Given the description of an element on the screen output the (x, y) to click on. 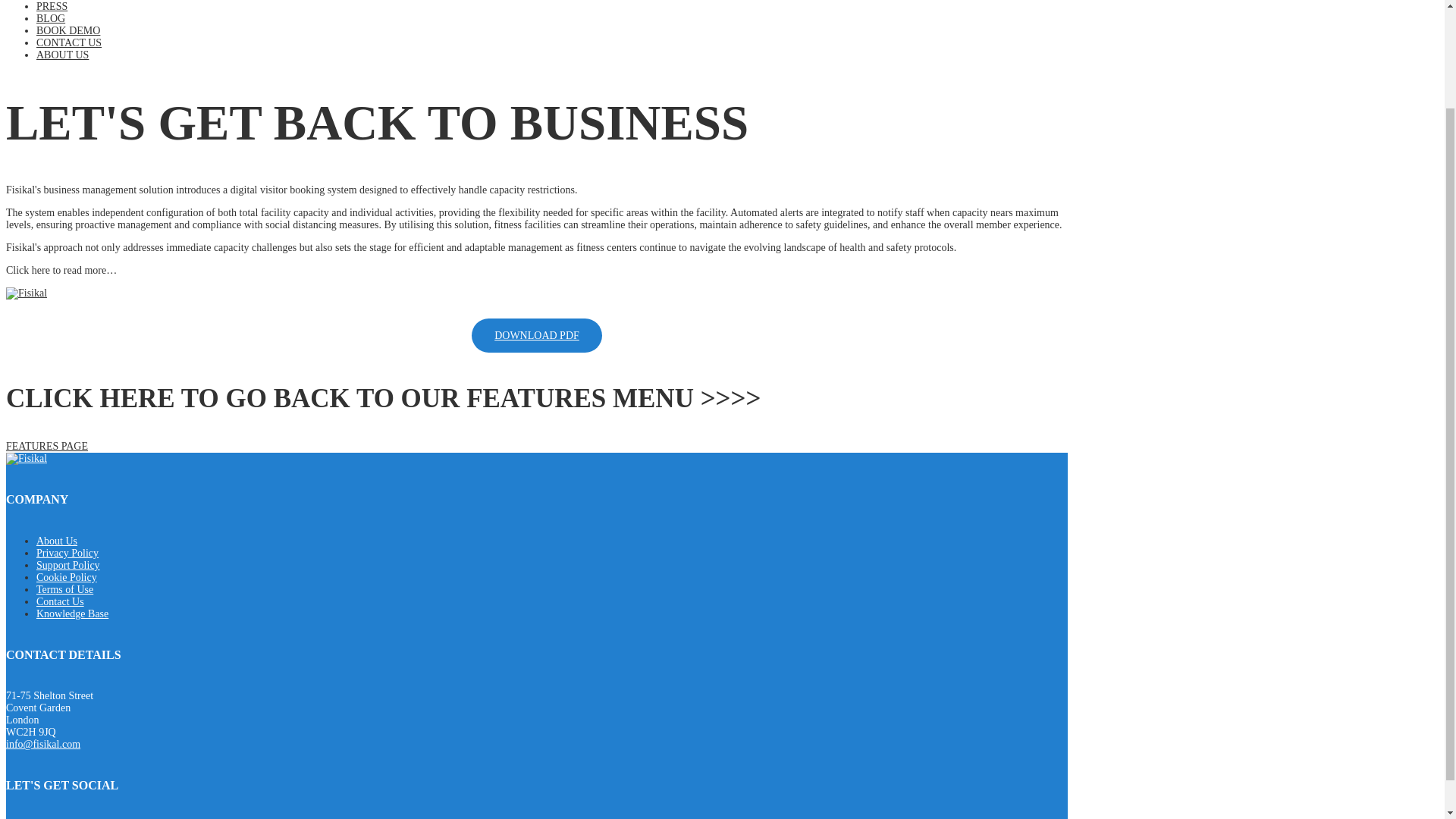
Fisikal (25, 458)
Contact Us (60, 601)
PRESS (51, 6)
Terms of Use (64, 589)
Privacy Policy (67, 552)
DOWNLOAD PDF (536, 335)
CONTACT US (68, 42)
FEATURES PAGE (46, 446)
BOOK DEMO (68, 30)
Knowledge Base (71, 613)
ABOUT US (62, 54)
About Us (56, 541)
BLOG (50, 18)
